Given the description of an element on the screen output the (x, y) to click on. 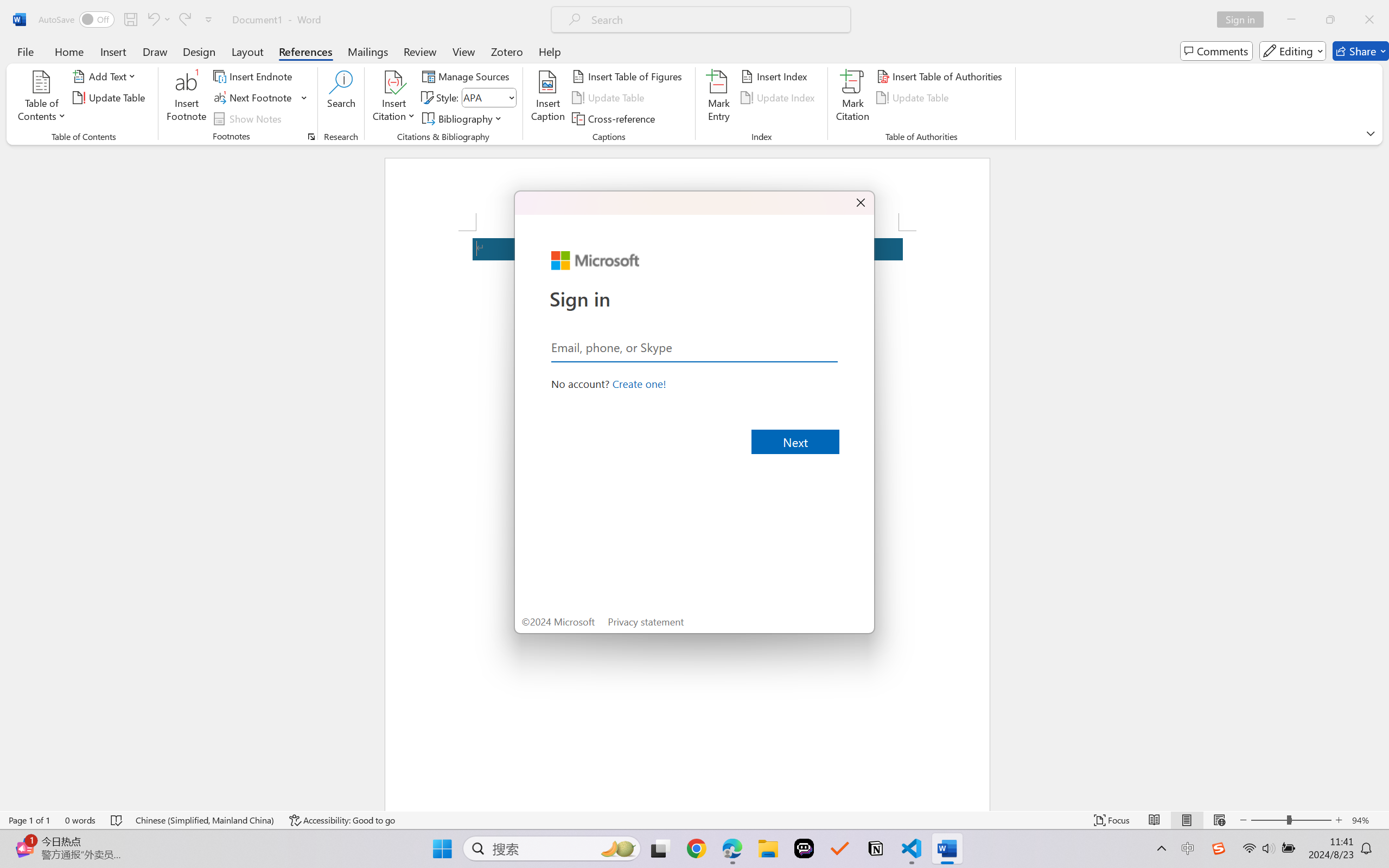
Insert Index... (775, 75)
Update Table... (110, 97)
Mark Entry... (718, 97)
Google Chrome (696, 848)
Search (341, 97)
